Given the description of an element on the screen output the (x, y) to click on. 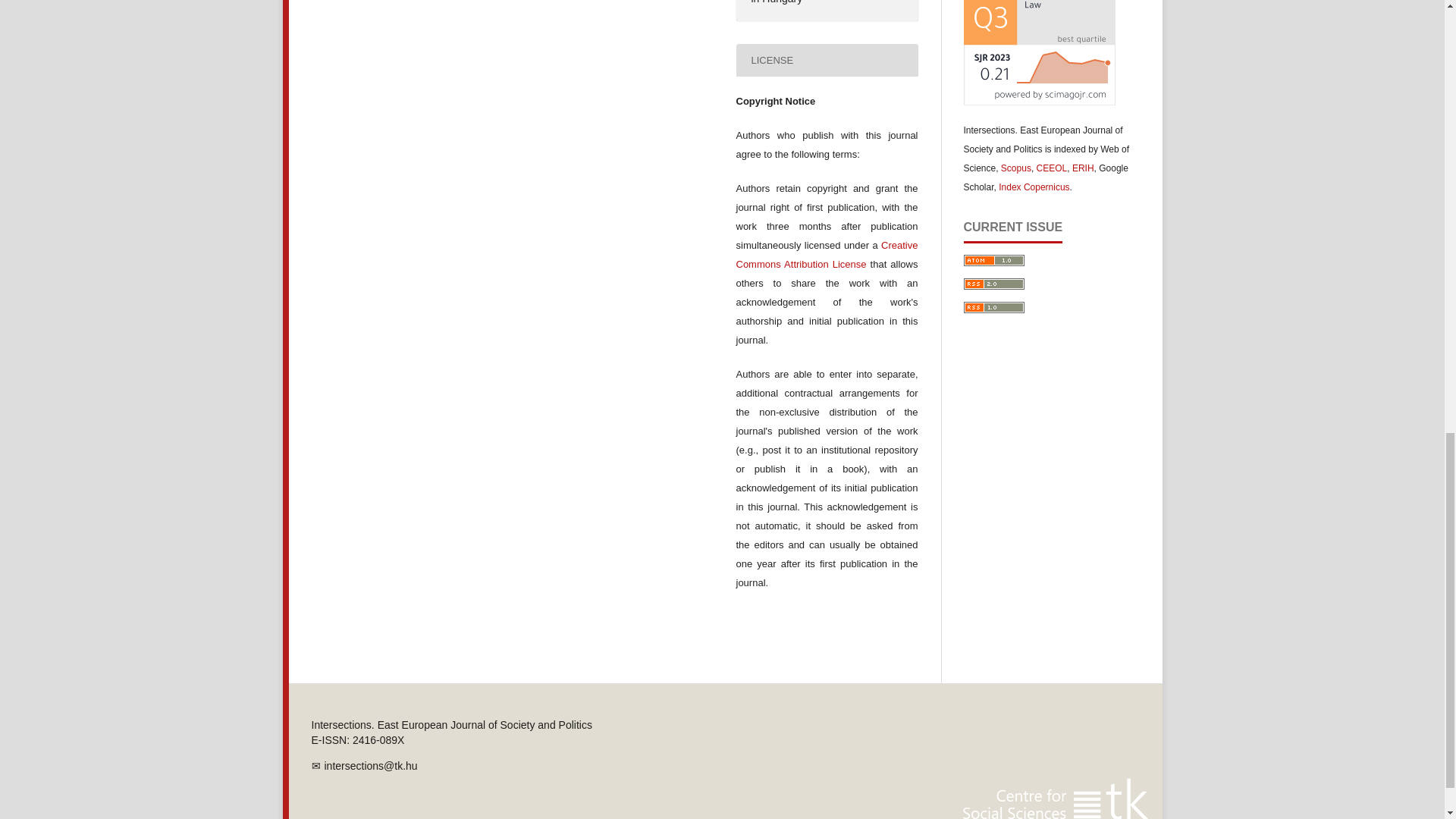
Creative Commons Attribution License (826, 254)
